Given the description of an element on the screen output the (x, y) to click on. 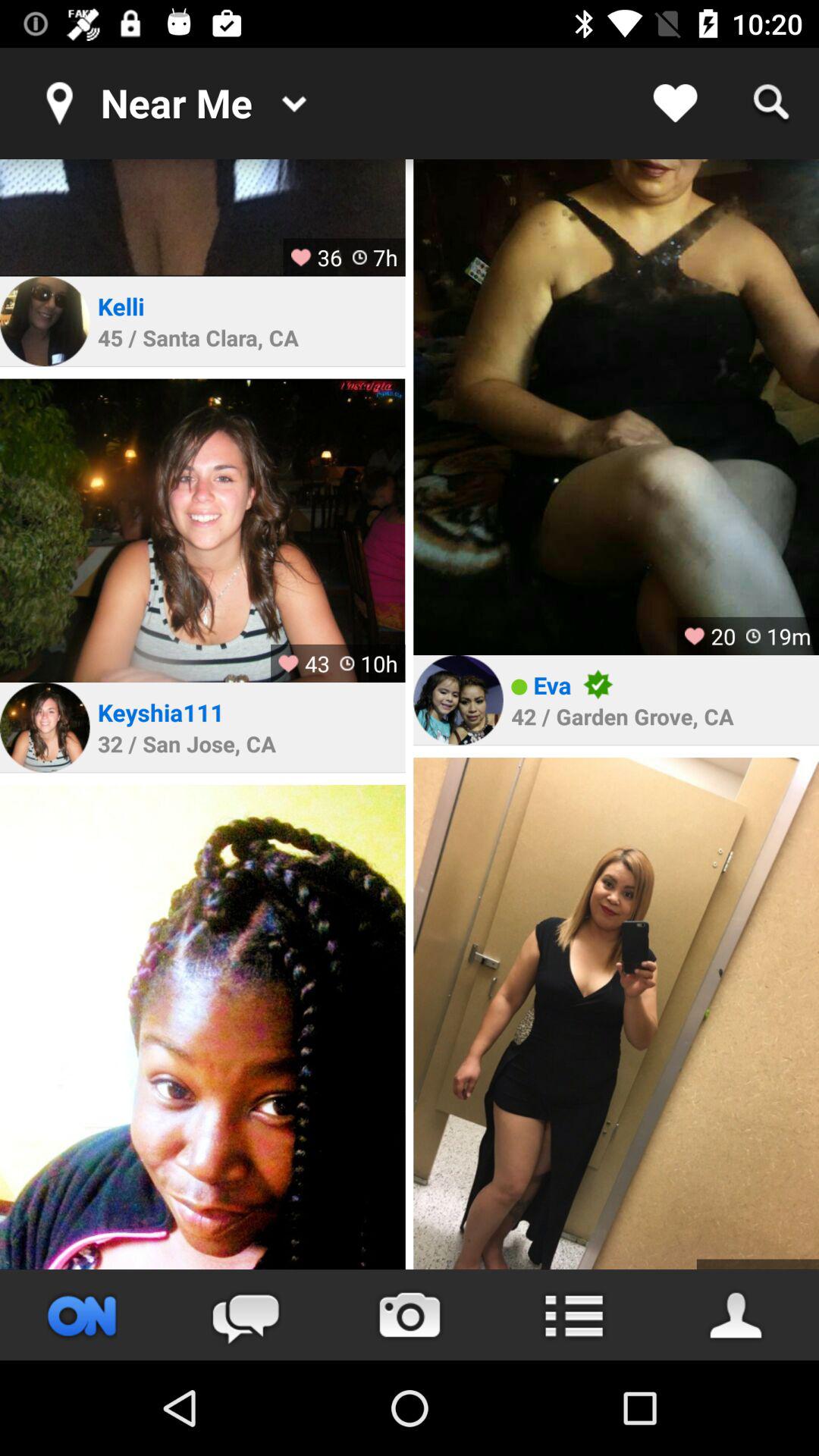
take a picture (409, 1315)
